Given the description of an element on the screen output the (x, y) to click on. 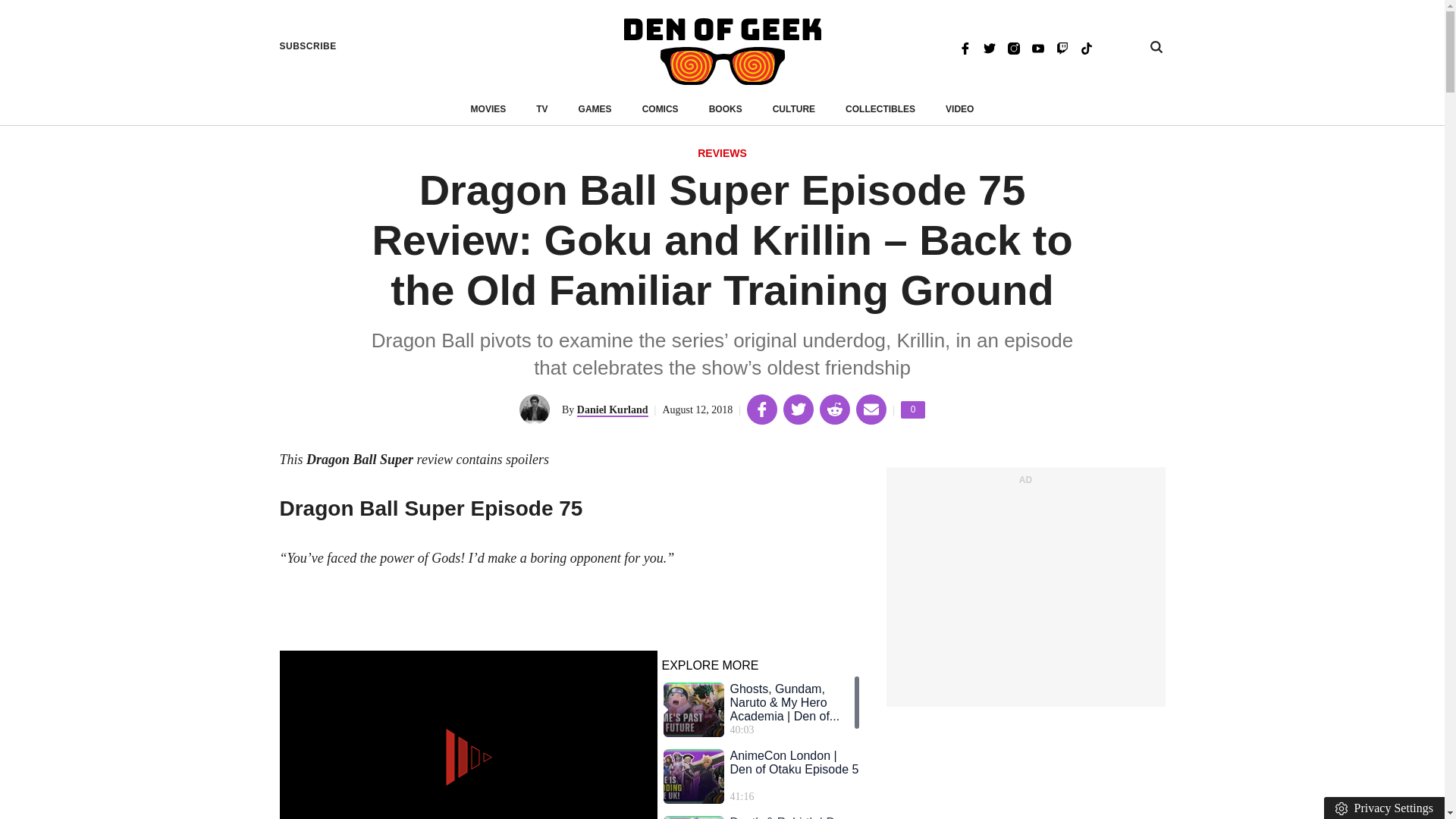
3rd party ad content (1024, 594)
Daniel Kurland (611, 410)
Den of Geek (722, 52)
BOOKS (725, 109)
SUBSCRIBE (307, 46)
COMICS (660, 109)
CULTURE (794, 109)
MOVIES (488, 109)
TikTok (1085, 46)
Twitch (1061, 46)
Twitter (988, 46)
GAMES (594, 109)
VIDEO (912, 409)
REVIEWS (959, 109)
